Given the description of an element on the screen output the (x, y) to click on. 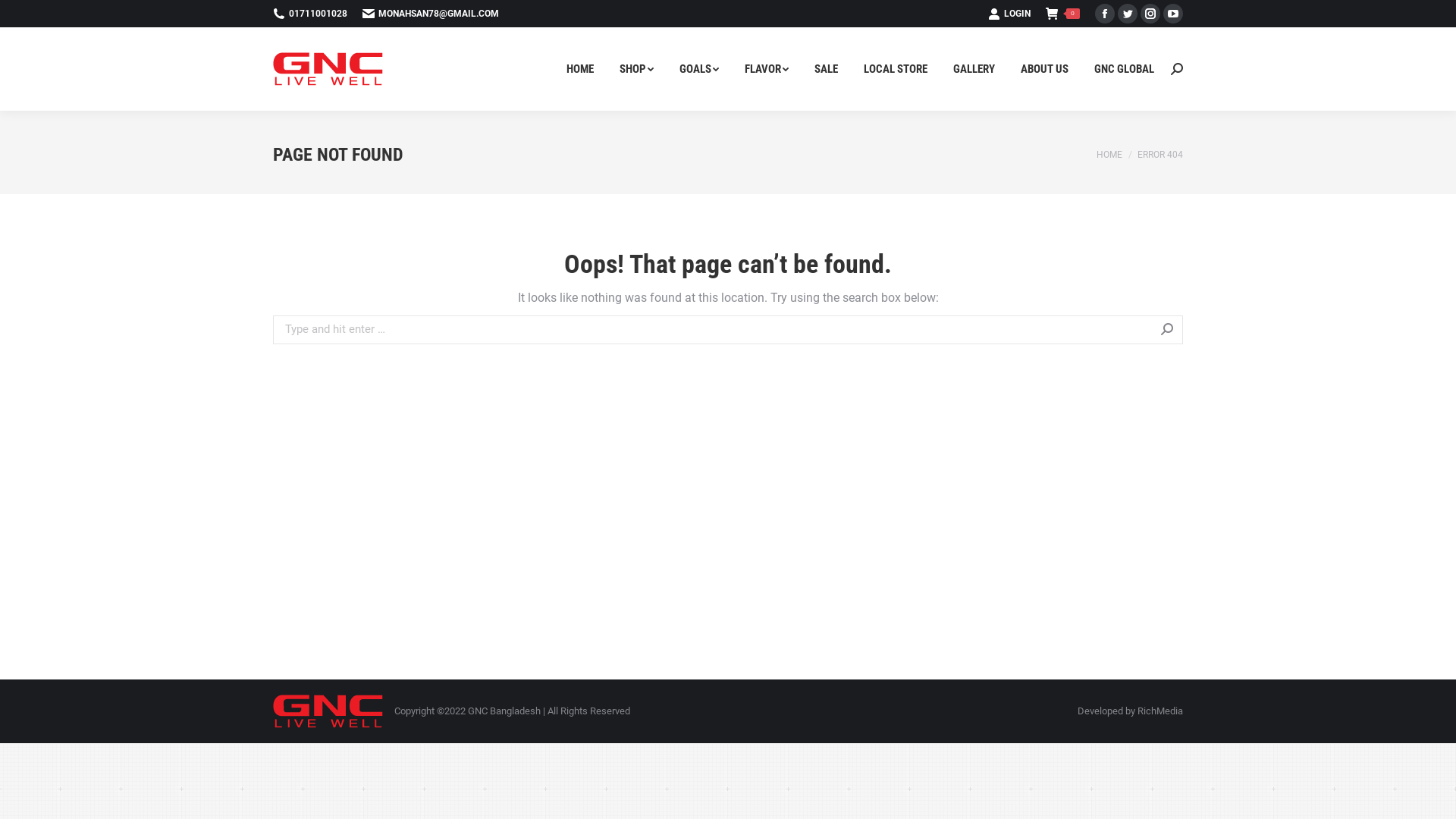
GNC GLOBAL Element type: text (1124, 68)
Facebook page opens in new window Element type: text (1104, 13)
LOCAL STORE Element type: text (895, 68)
Go! Element type: text (1203, 330)
Developed by RichMedia Element type: text (1130, 711)
Twitter page opens in new window Element type: text (1127, 13)
FLAVOR Element type: text (766, 68)
ABOUT US Element type: text (1044, 68)
LOGIN Element type: text (1009, 13)
GOALS Element type: text (699, 68)
YouTube page opens in new window Element type: text (1173, 13)
SALE Element type: text (826, 68)
HOME Element type: text (1109, 153)
GALLERY Element type: text (974, 68)
Go! Element type: text (20, 15)
 0 Element type: text (1062, 13)
Instagram page opens in new window Element type: text (1150, 13)
SHOP Element type: text (636, 68)
HOME Element type: text (579, 68)
